Given the description of an element on the screen output the (x, y) to click on. 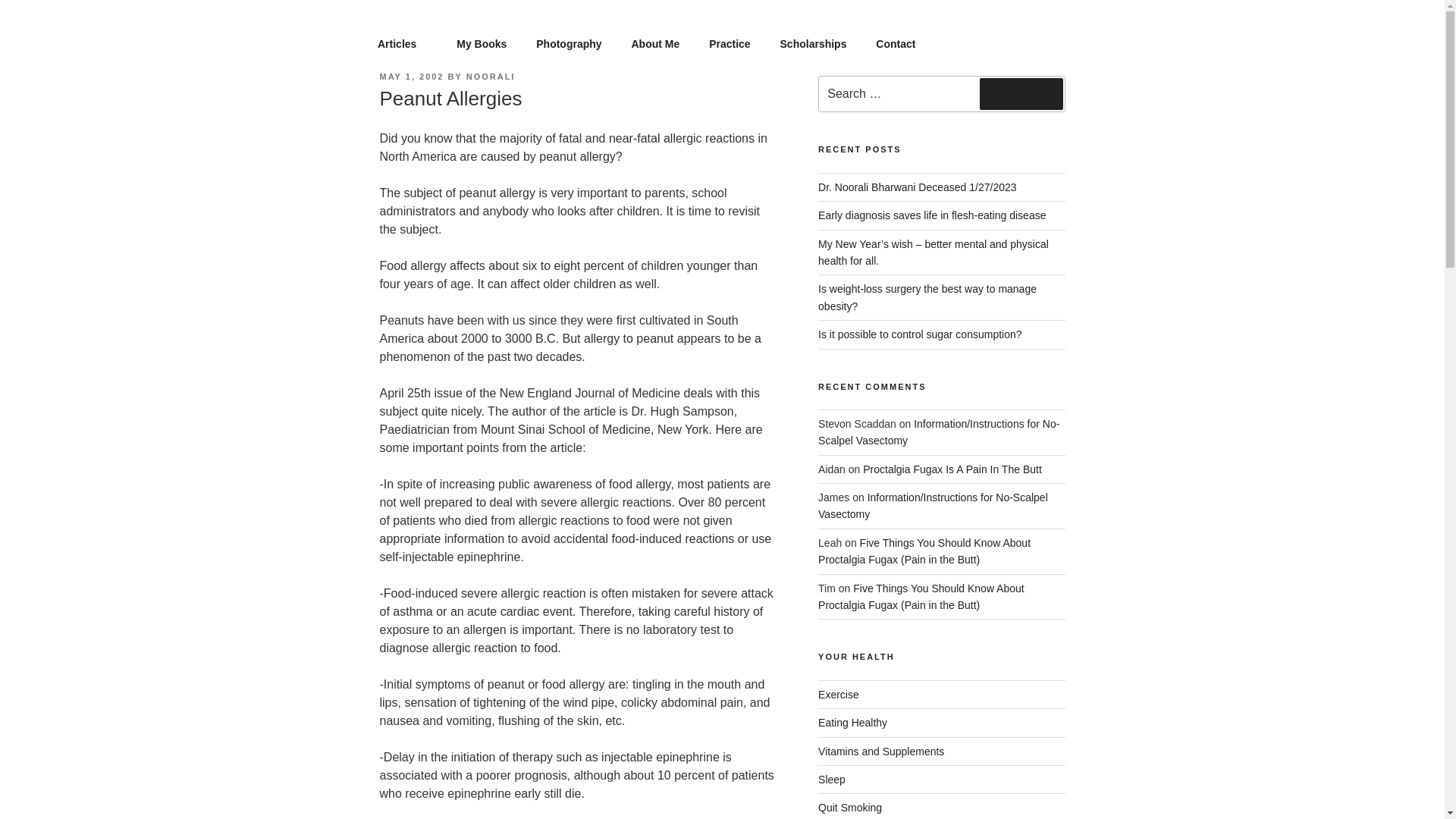
About Me (655, 44)
Photography (568, 44)
My Books (481, 44)
MAY 1, 2002 (411, 76)
NOORALI (490, 76)
Practice (728, 44)
DR. NOORALI BHARWANI (569, 34)
Contact (895, 44)
Articles (401, 44)
Scholarships (813, 44)
